Given the description of an element on the screen output the (x, y) to click on. 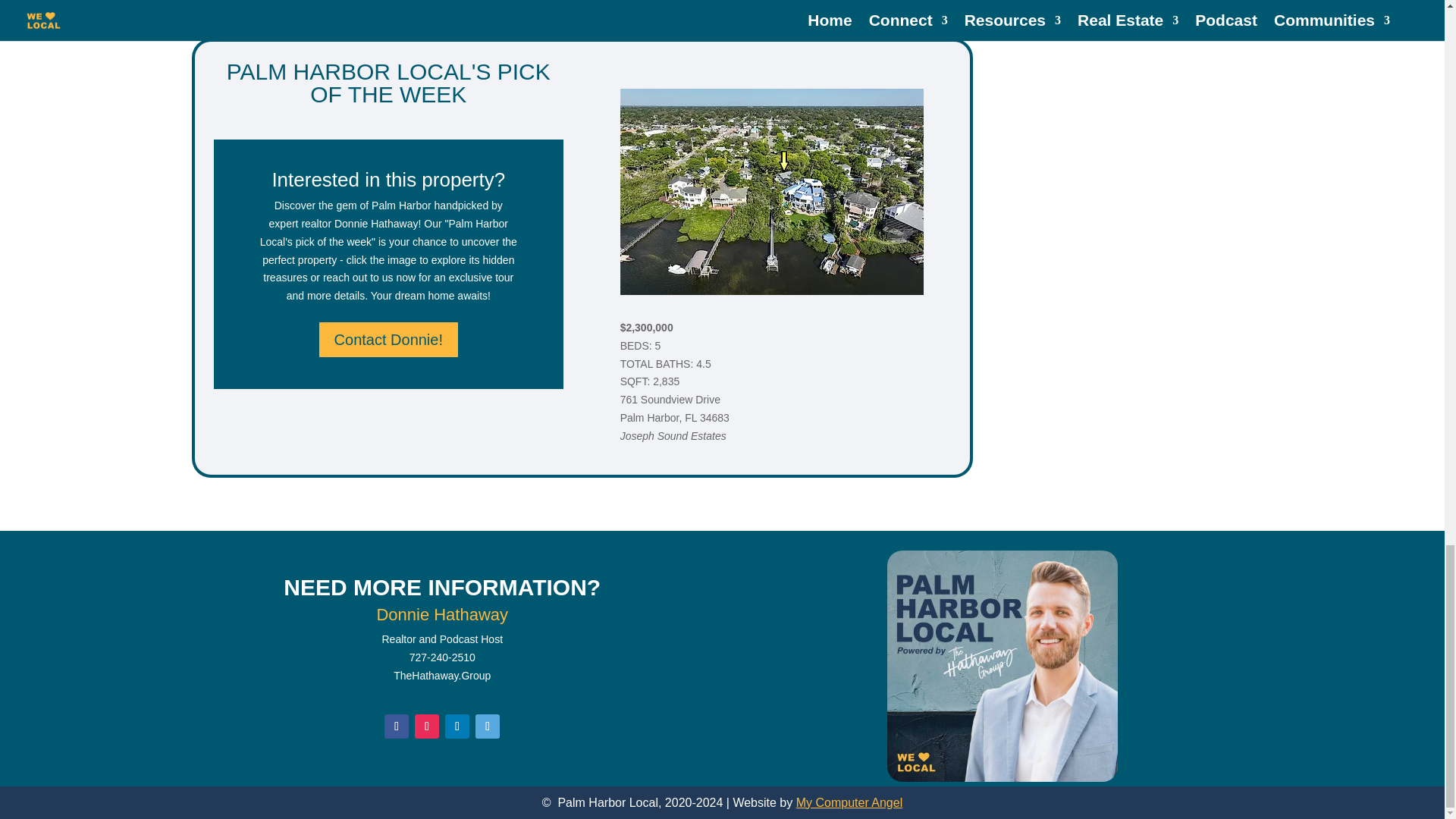
Follow on Podcast (487, 726)
Follow on Facebook (396, 726)
Follow on Instagram (426, 726)
Follow on LinkedIn (456, 726)
